Given the description of an element on the screen output the (x, y) to click on. 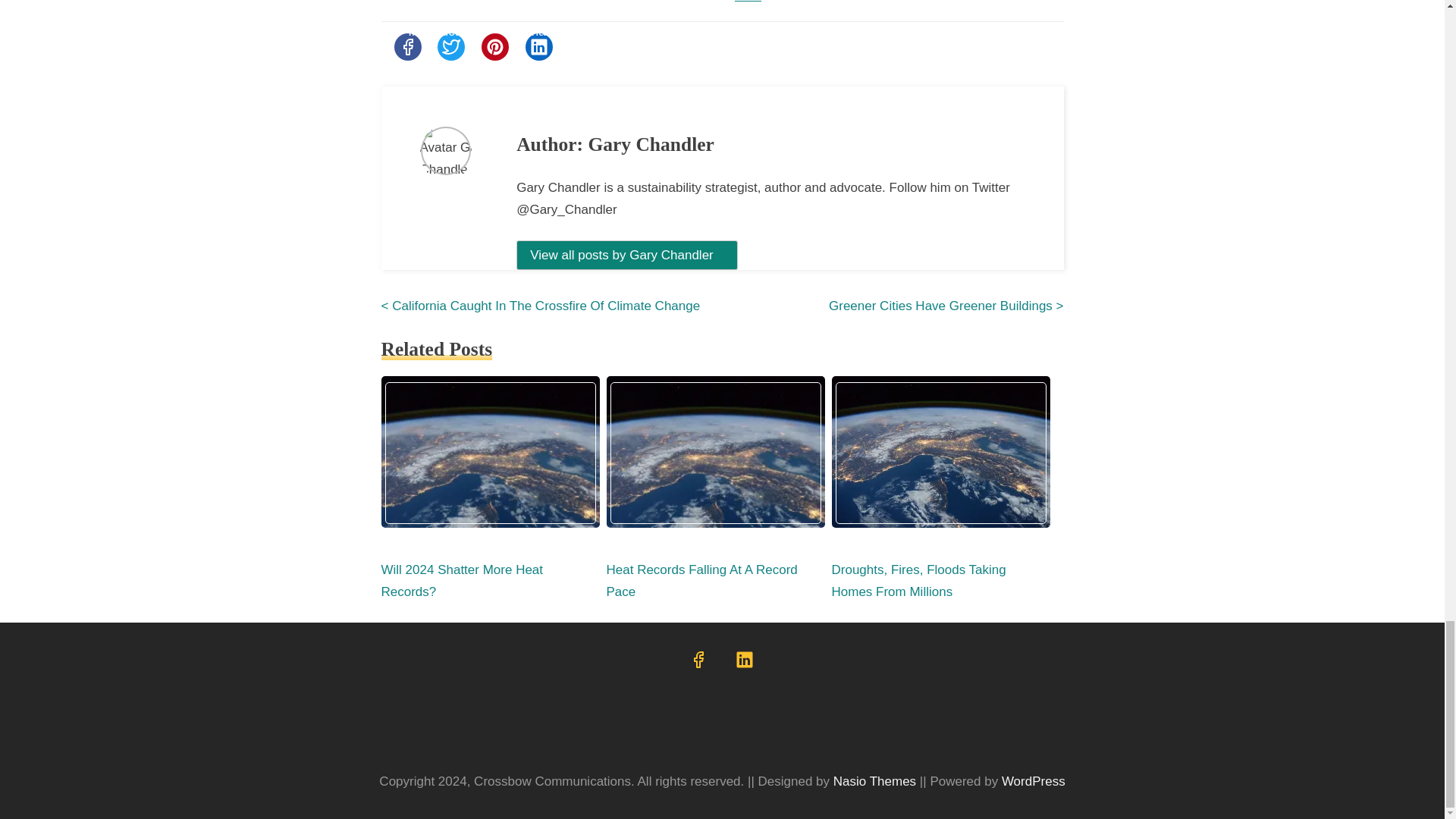
Share this post on Facebook (408, 46)
Share this post on Pinterest (494, 46)
Share this post on Linkedin (539, 46)
Share this post on Twitter (451, 46)
